Given the description of an element on the screen output the (x, y) to click on. 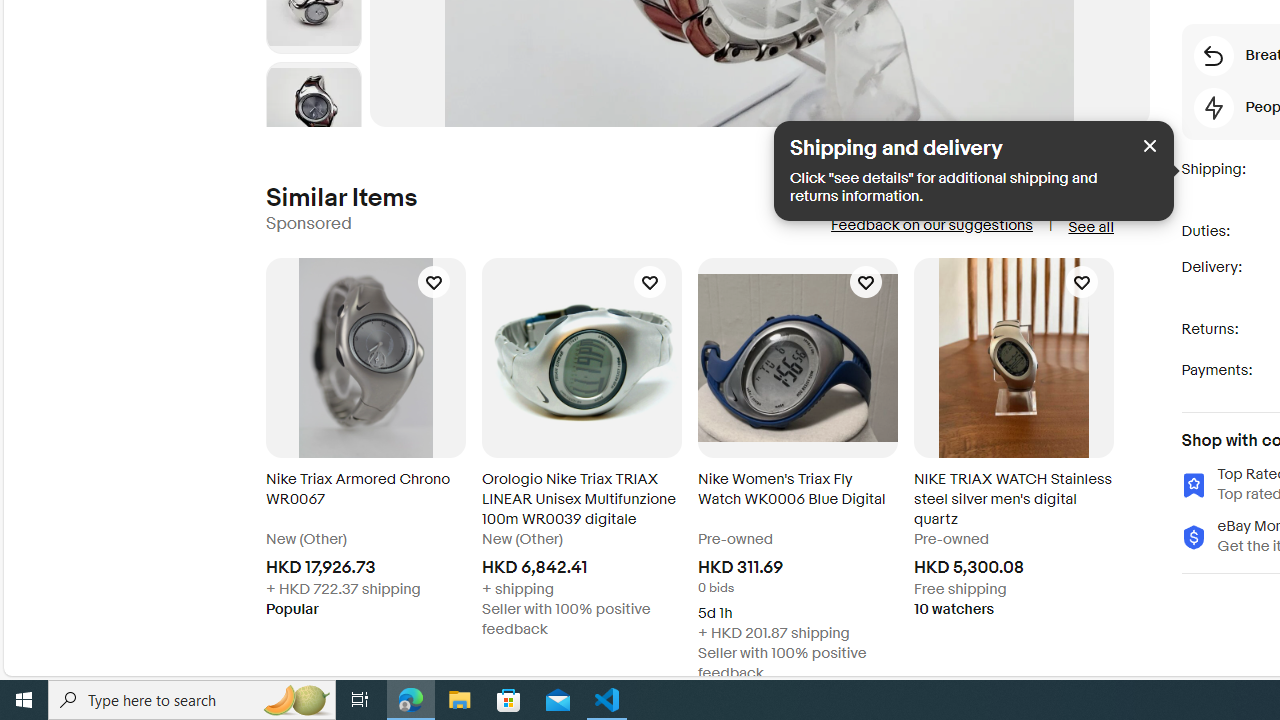
Close dialog (1150, 144)
Picture 6 of 18 (313, 109)
Picture 6 of 18 (313, 108)
See all (1090, 227)
Add Nike Triax Armored Chrono WR0067 to your watch list (433, 281)
Feedback on our suggestions (930, 224)
Next image - Item images thumbnails (313, 122)
